Given the description of an element on the screen output the (x, y) to click on. 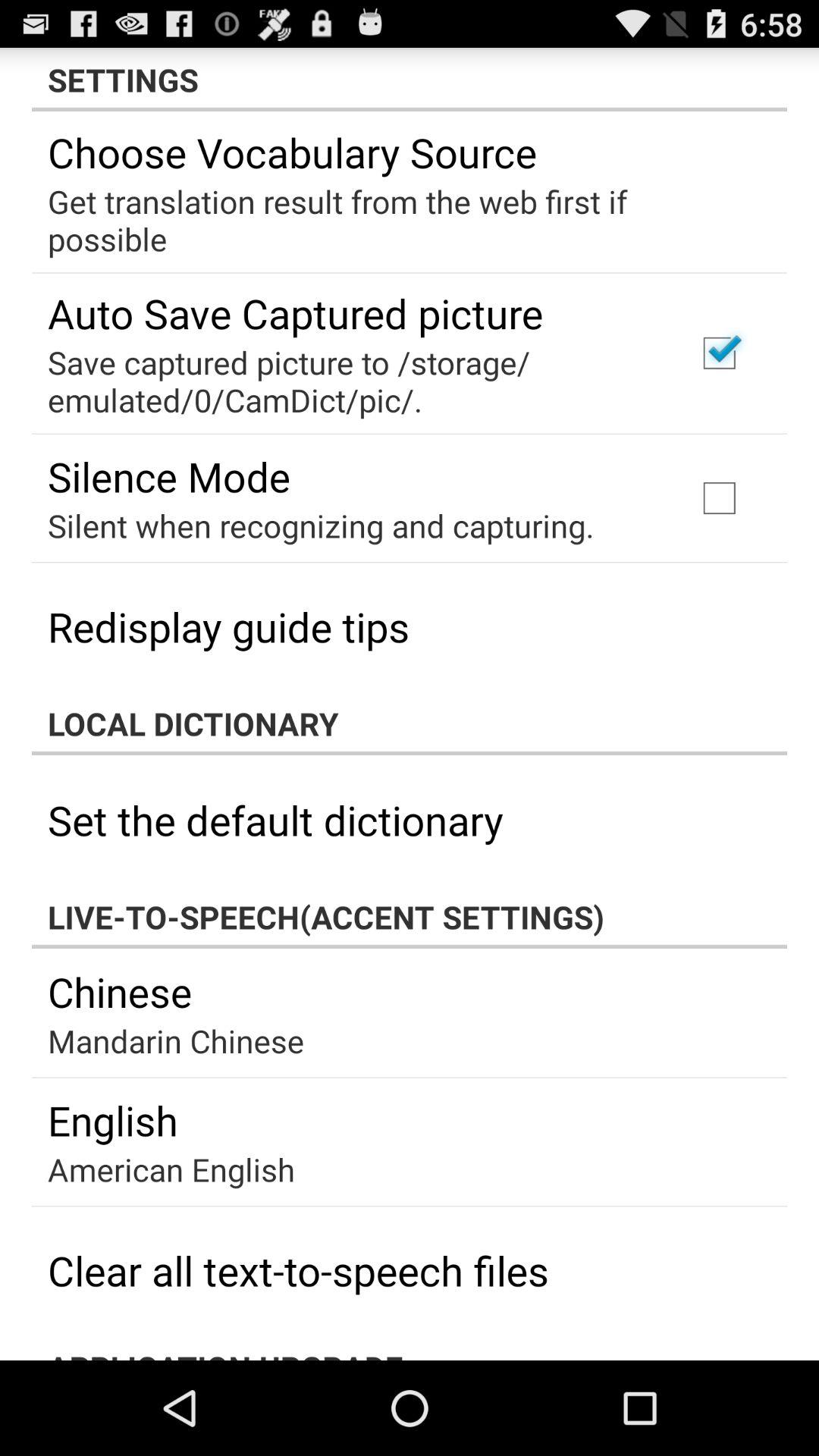
open mandarin chinese item (175, 1040)
